Given the description of an element on the screen output the (x, y) to click on. 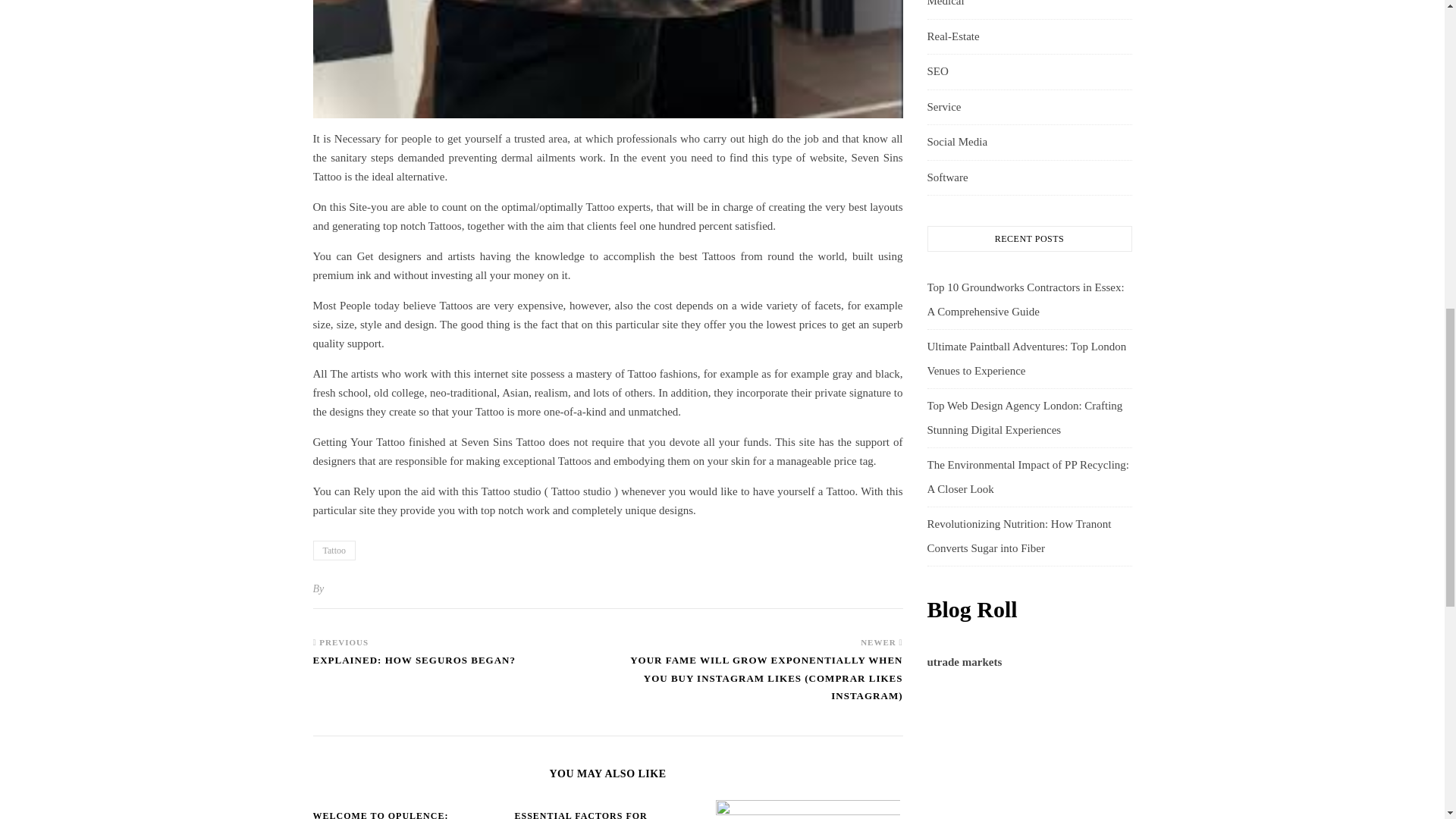
WELCOME TO OPULENCE: PINKYSIRONDOORS REVELATIONS (402, 814)
Social Media (956, 142)
Real-Estate (952, 36)
Service (943, 107)
Tattoo (334, 550)
EXPLAINED: HOW SEGUROS BEGAN? (414, 667)
ESSENTIAL FACTORS FOR CHOOSING A CASINO WEBSITE (592, 814)
Medical (944, 6)
Explained: How Seguros Began? (414, 667)
SEO (936, 71)
